Given the description of an element on the screen output the (x, y) to click on. 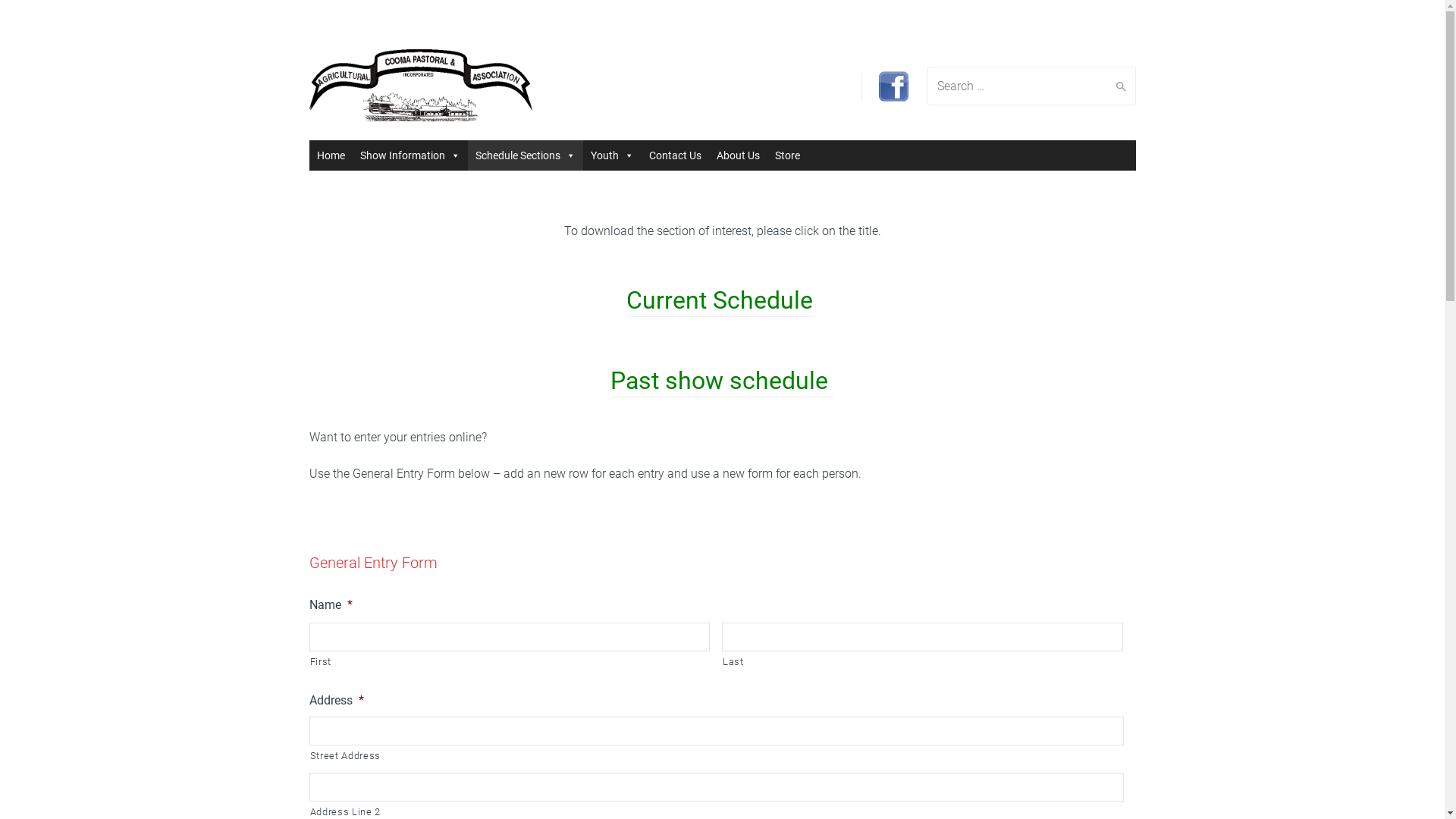
Youth Element type: text (611, 155)
Home Element type: text (330, 155)
Show Information Element type: text (409, 155)
About Us Element type: text (737, 155)
Schedule Sections Element type: text (524, 155)
Past show schedule  Element type: text (722, 380)
Current Schedule Element type: text (719, 300)
Store Element type: text (787, 155)
Search Element type: text (1117, 85)
Contact Us Element type: text (675, 155)
